Given the description of an element on the screen output the (x, y) to click on. 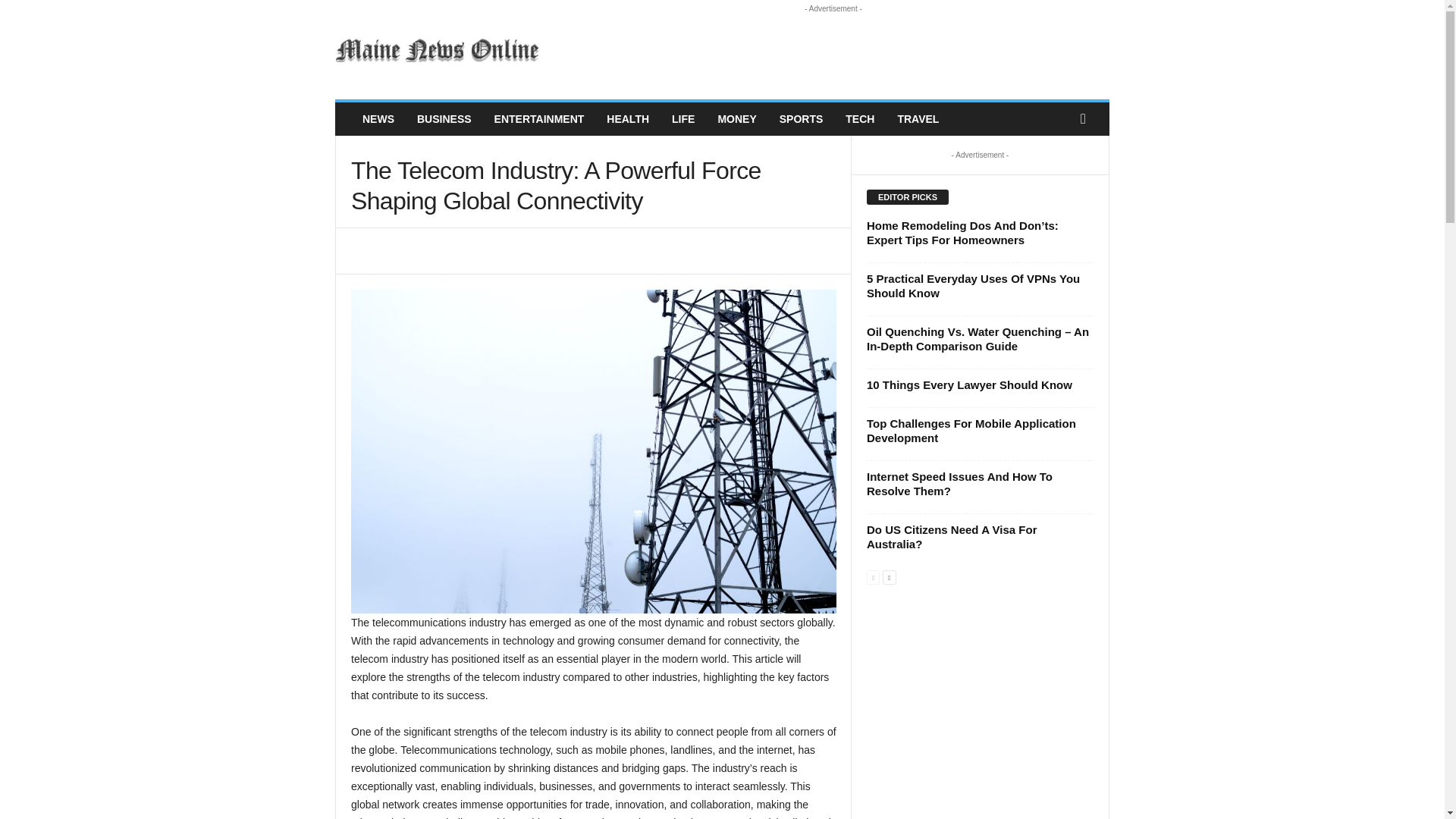
BUSINESS (444, 118)
TRAVEL (917, 118)
TECH (859, 118)
ENTERTAINMENT (539, 118)
HEALTH (628, 118)
Maine News Online (437, 49)
LIFE (683, 118)
NEWS (378, 118)
SPORTS (801, 118)
MONEY (736, 118)
